Given the description of an element on the screen output the (x, y) to click on. 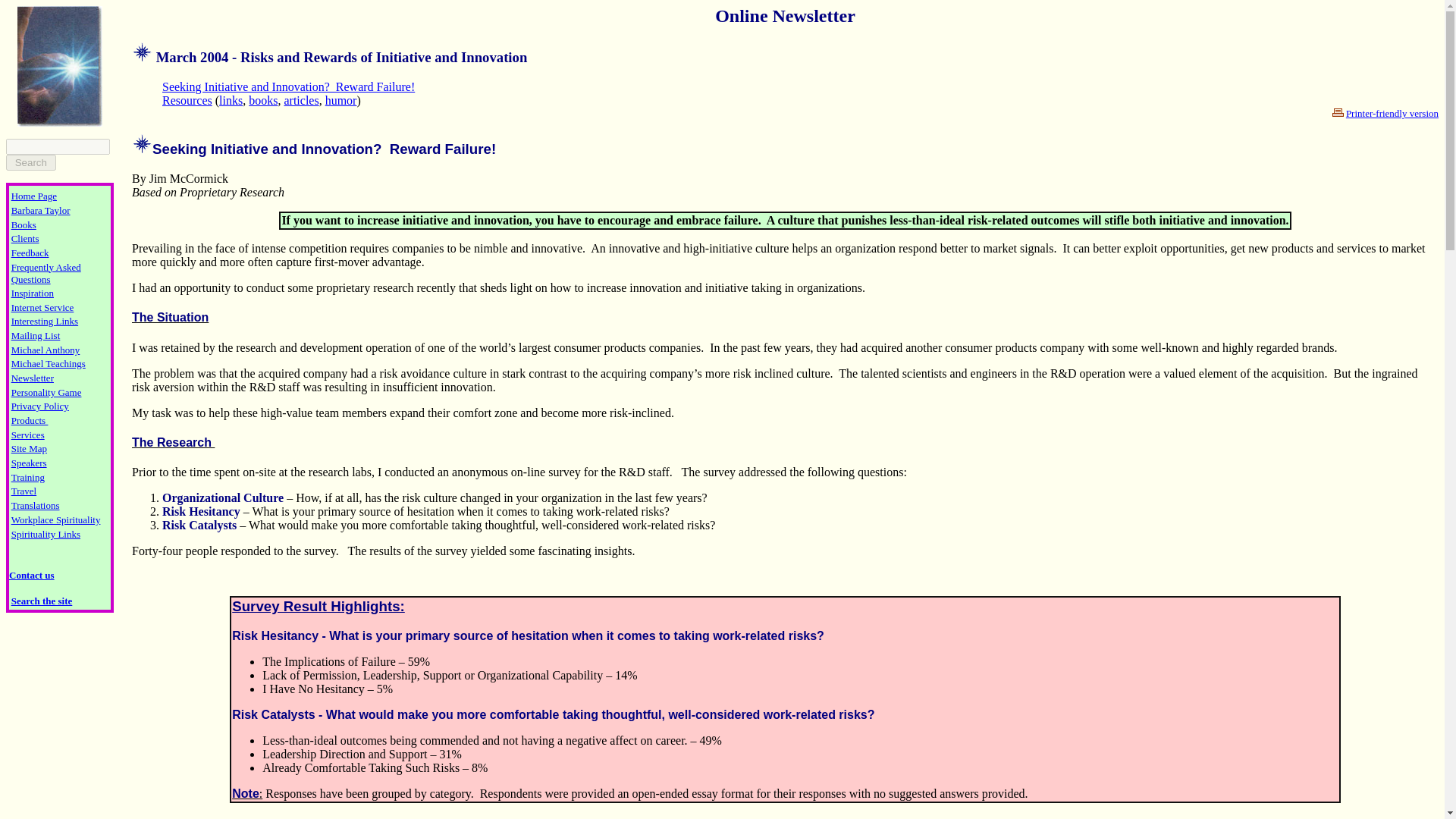
Travel (23, 490)
Contact us (31, 573)
articles (300, 100)
Personality Game (46, 391)
Spirituality Links (45, 533)
Michael Anthony (45, 349)
Site Map (28, 447)
Inspiration (32, 292)
Frequently Asked Questions (46, 273)
Newsletter (32, 377)
